Given the description of an element on the screen output the (x, y) to click on. 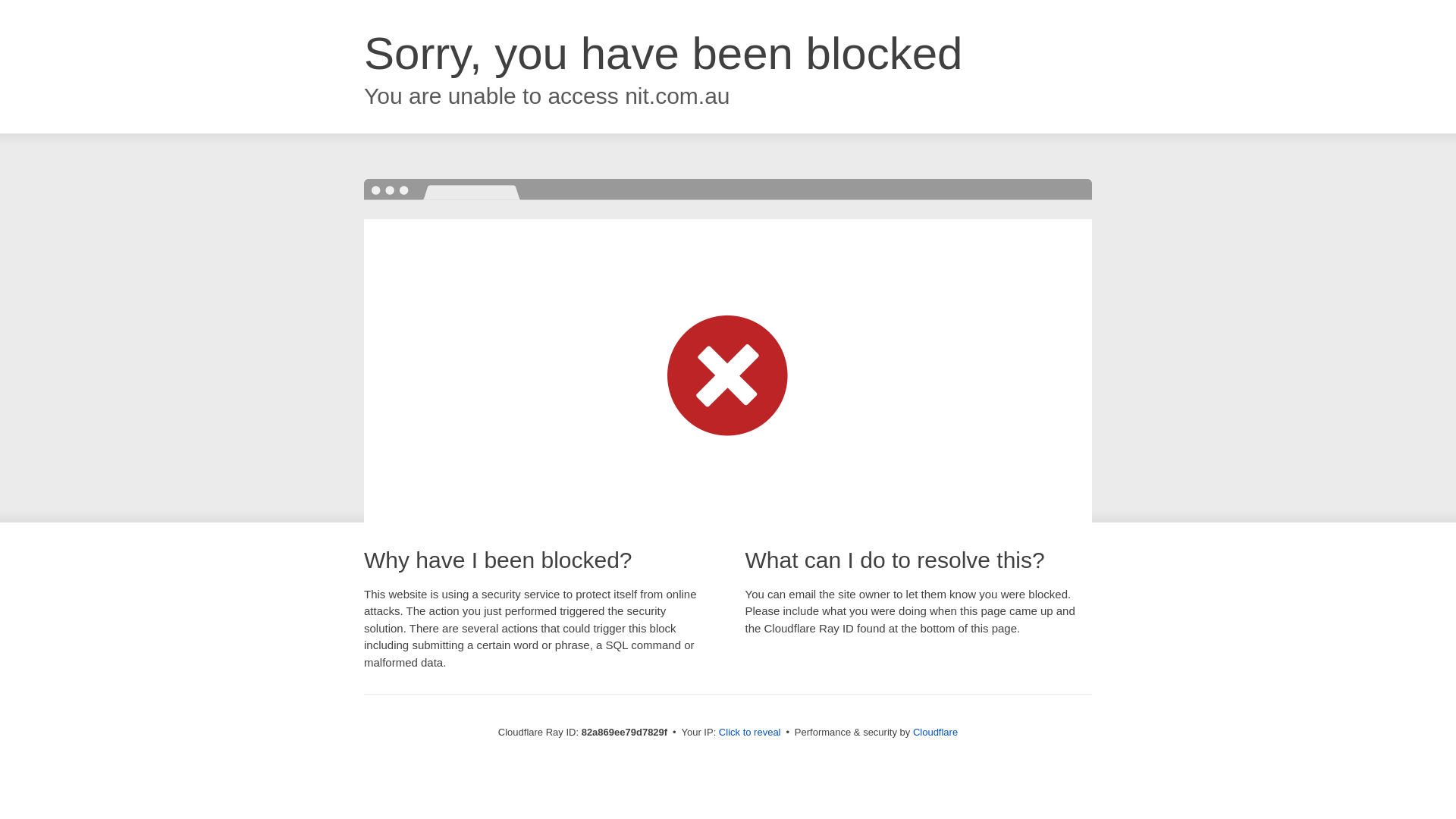
Click to reveal Element type: text (749, 732)
Cloudflare Element type: text (935, 731)
